Given the description of an element on the screen output the (x, y) to click on. 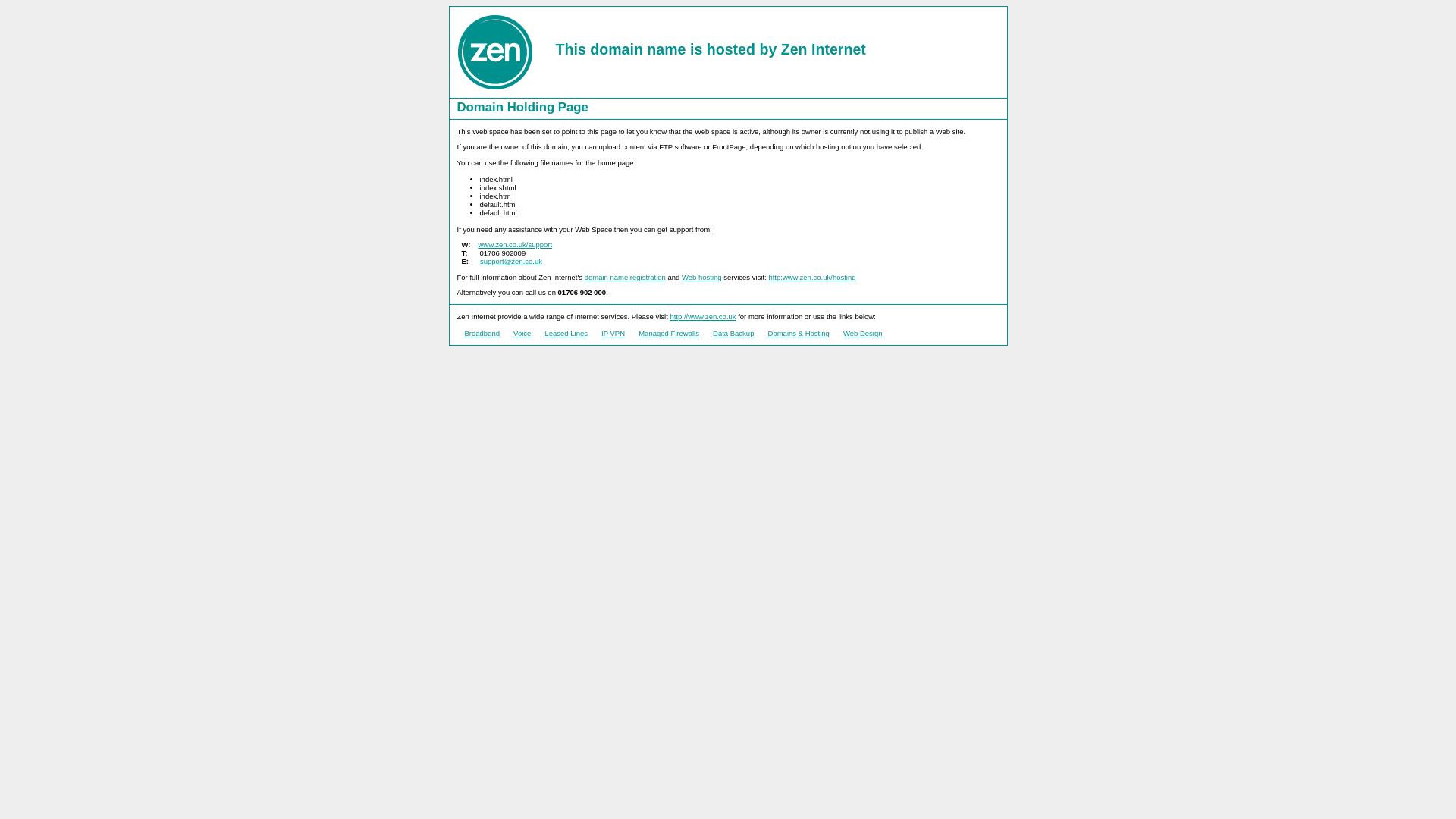
Web hosting (701, 276)
Data Backup (733, 333)
domain name registration (625, 276)
Voice (522, 333)
Broadband (481, 333)
Leased Lines (566, 333)
IP VPN (612, 333)
Managed Firewalls (668, 333)
Web Design (862, 333)
Zen Internet (823, 48)
